Given the description of an element on the screen output the (x, y) to click on. 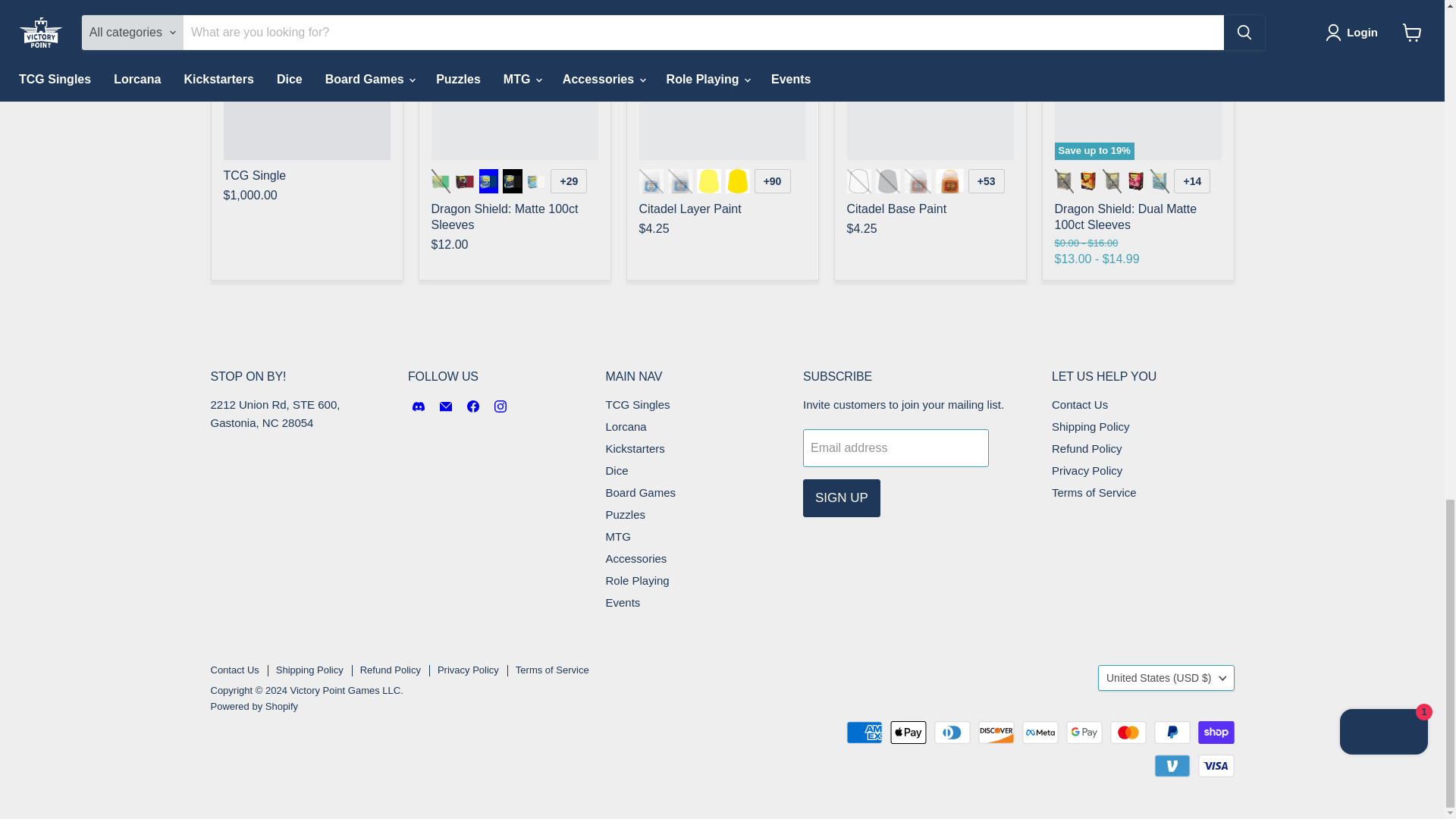
Apple Pay (907, 732)
Facebook (473, 405)
American Express (863, 732)
Diners Club (952, 732)
Discord (418, 405)
Email (446, 405)
Instagram (500, 405)
